Given the description of an element on the screen output the (x, y) to click on. 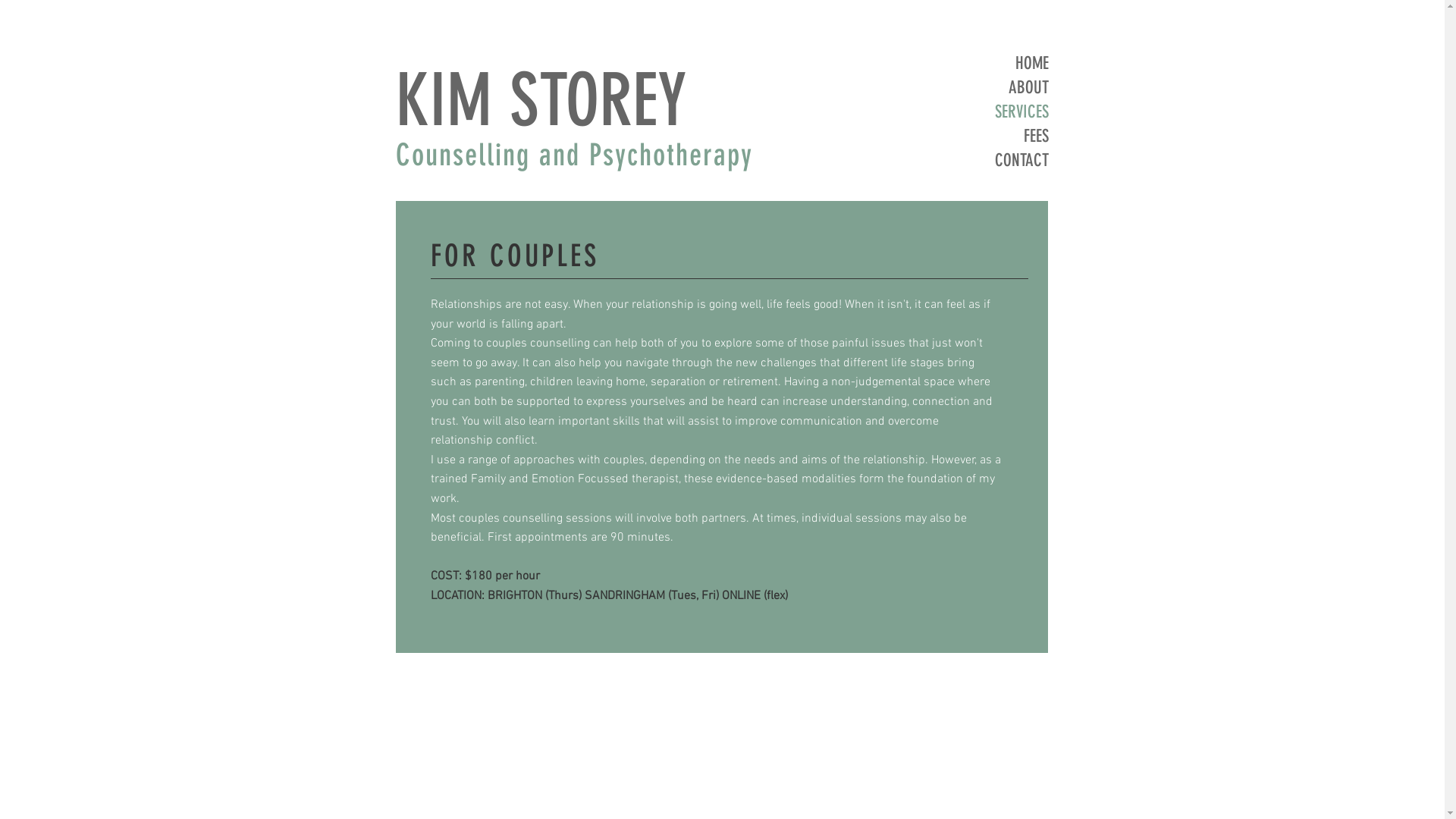
CONTACT Element type: text (990, 160)
KIM STOREY Element type: text (541, 100)
ABOUT Element type: text (990, 87)
FEES Element type: text (990, 136)
Counselling and Psychotherapy Element type: text (574, 154)
HOME Element type: text (990, 63)
SERVICES Element type: text (990, 112)
